Given the description of an element on the screen output the (x, y) to click on. 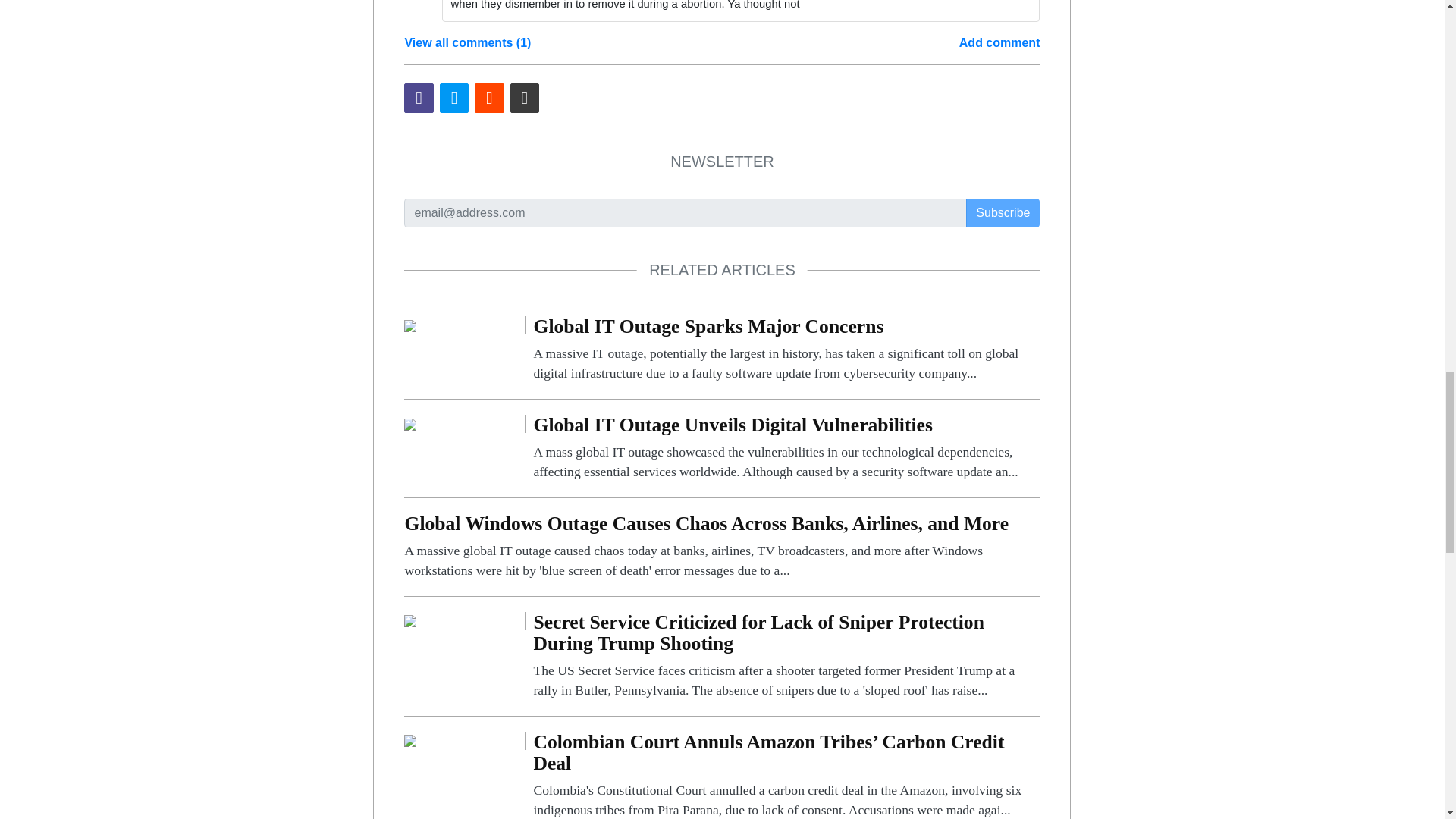
Subscribe (1002, 213)
Global IT Outage Unveils Digital Vulnerabilities (410, 422)
Global IT Outage Unveils Digital Vulnerabilities (785, 448)
Add comment (1000, 43)
Global IT Outage Sparks Major Concerns (410, 324)
Global IT Outage Sparks Major Concerns (785, 350)
